Given the description of an element on the screen output the (x, y) to click on. 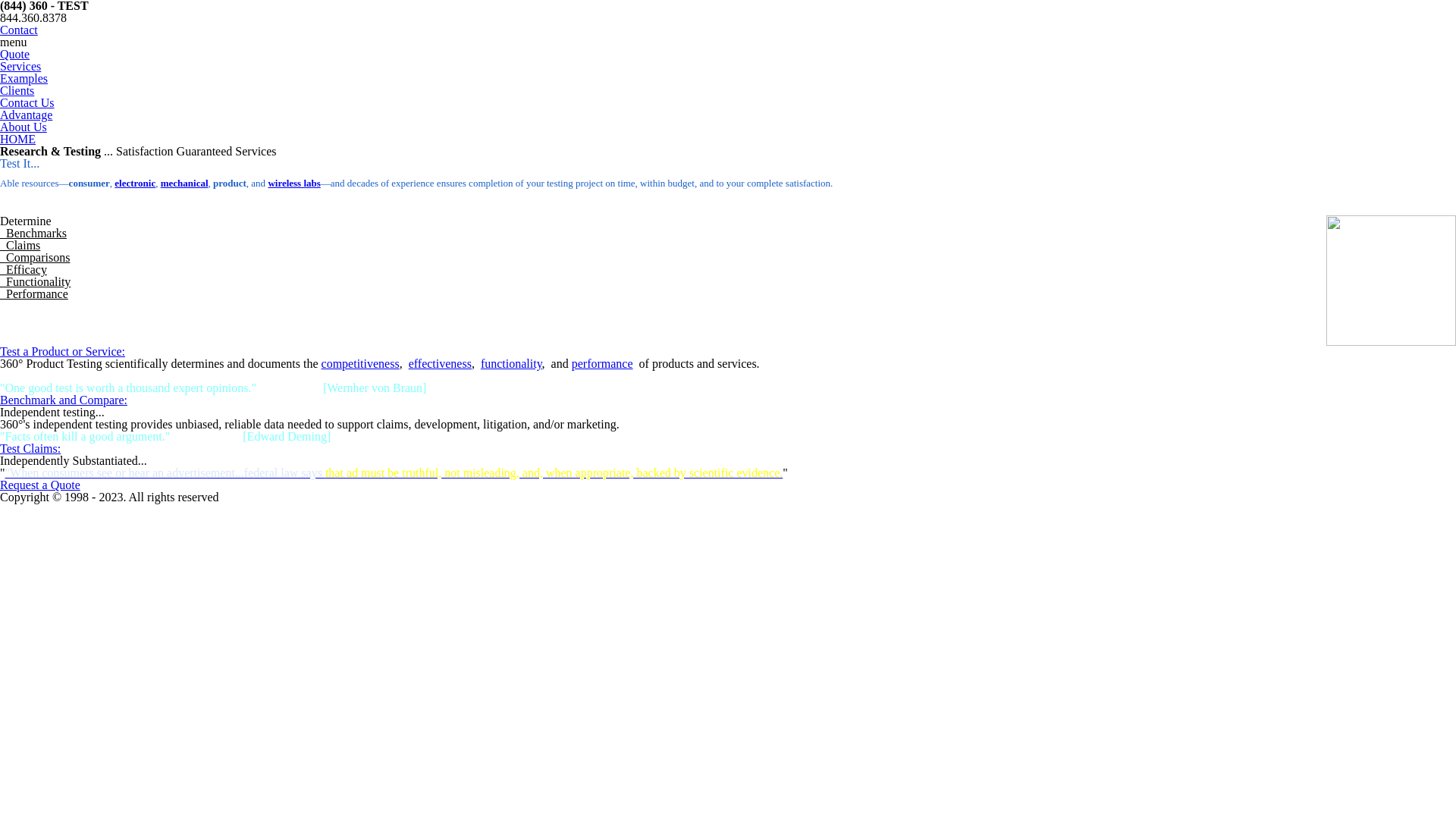
Services Element type: text (20, 65)
functionality Element type: text (511, 363)
  Functionality Element type: text (35, 281)
Clients Element type: text (17, 90)
  Benchmarks Element type: text (33, 232)
electronic Element type: text (134, 182)
Request a Quote Element type: text (40, 484)
Quote Element type: text (14, 53)
Examples Element type: text (23, 78)
Contact Element type: text (18, 29)
  Performance Element type: text (34, 293)
HOME Element type: text (17, 138)
  Comparisons Element type: text (34, 257)
About Us Element type: text (23, 126)
Contact Us Element type: text (27, 102)
  Claims Element type: text (20, 244)
  Efficacy Element type: text (23, 269)
mechanical Element type: text (184, 182)
competitiveness Element type: text (360, 363)
effectiveness Element type: text (439, 363)
wireless labs Element type: text (293, 182)
Advantage Element type: text (26, 114)
performance Element type: text (602, 363)
